Given the description of an element on the screen output the (x, y) to click on. 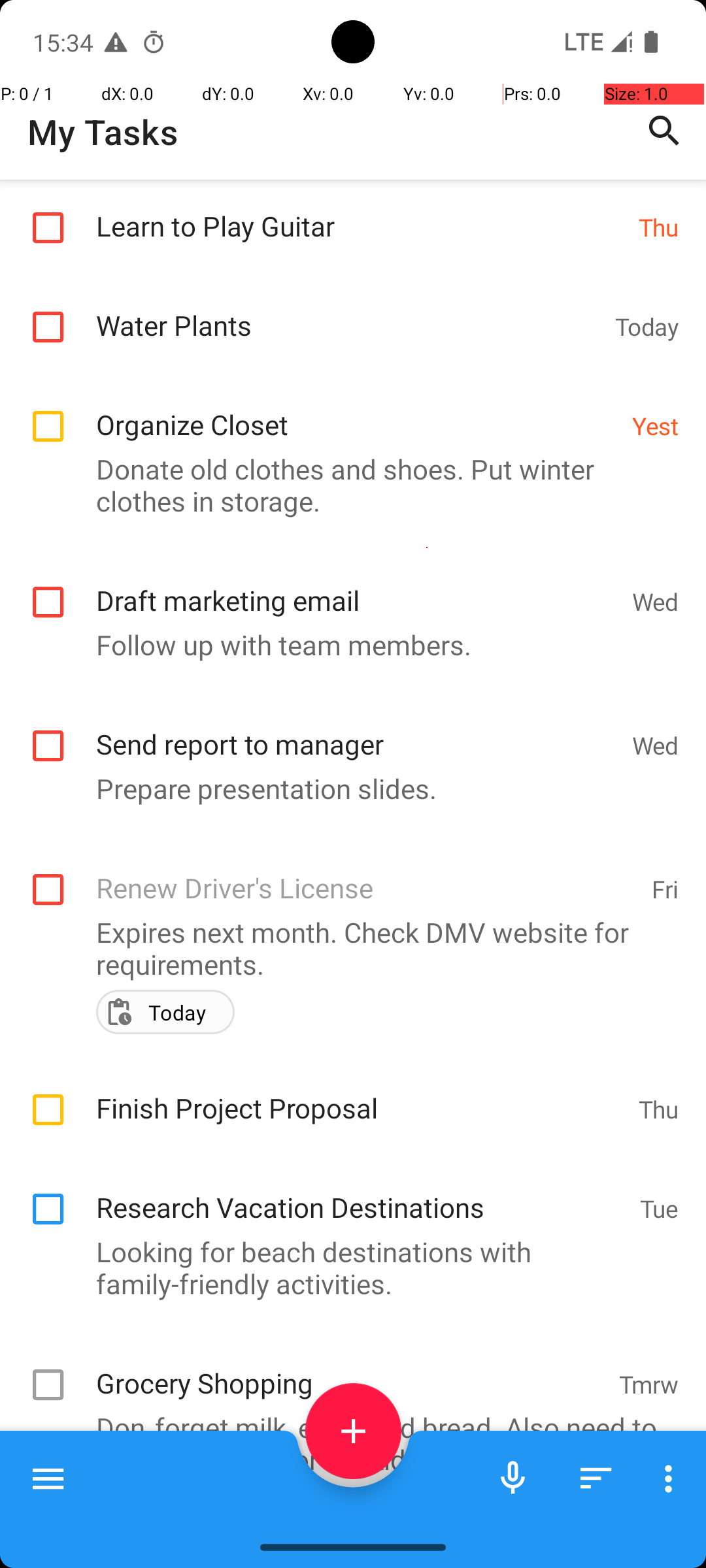
Learn to Play Guitar Element type: android.widget.TextView (360, 211)
Water Plants Element type: android.widget.TextView (348, 310)
Organize Closet Element type: android.widget.TextView (357, 410)
Donate old clothes and shoes. Put winter clothes in storage. Element type: android.widget.TextView (346, 484)
Draft marketing email Element type: android.widget.TextView (357, 586)
Follow up with team members. Element type: android.widget.TextView (346, 644)
Send report to manager Element type: android.widget.TextView (357, 729)
Prepare presentation slides. Element type: android.widget.TextView (346, 787)
Renew Driver's License Element type: android.widget.TextView (367, 873)
Expires next month. Check DMV website for requirements. Element type: android.widget.TextView (346, 947)
Finish Project Proposal Element type: android.widget.TextView (360, 1093)
Research Vacation Destinations Element type: android.widget.TextView (361, 1192)
Looking for beach destinations with family-friendly activities. Element type: android.widget.TextView (346, 1267)
Grocery Shopping Element type: android.widget.TextView (350, 1368)
Don	 forget milk, eggs, and bread. Also need to pick up snacks for the kids. Element type: android.widget.TextView (346, 1442)
Tmrw Element type: android.widget.TextView (648, 1383)
Brainstorm Blog Post Ideas Element type: android.widget.TextView (350, 1519)
